Given the description of an element on the screen output the (x, y) to click on. 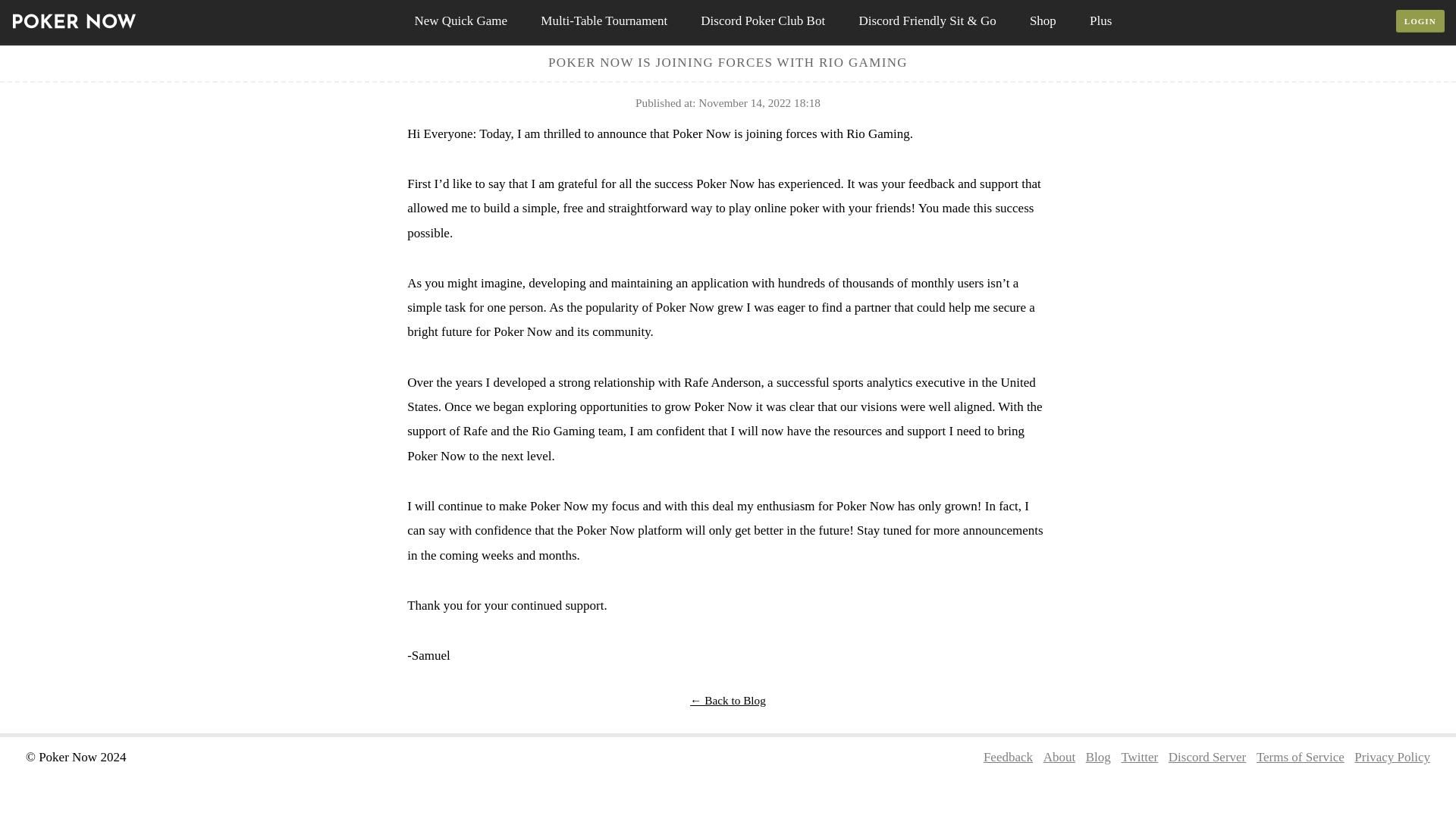
Shop (1042, 21)
Terms of Service (1299, 757)
About (1059, 757)
Discord Poker Club Bot (762, 21)
Privacy Policy (1391, 757)
Twitter (1139, 757)
Blog (1098, 757)
Multi-Table Tournament (604, 21)
Plus (1099, 21)
Discord Server (1207, 757)
